Given the description of an element on the screen output the (x, y) to click on. 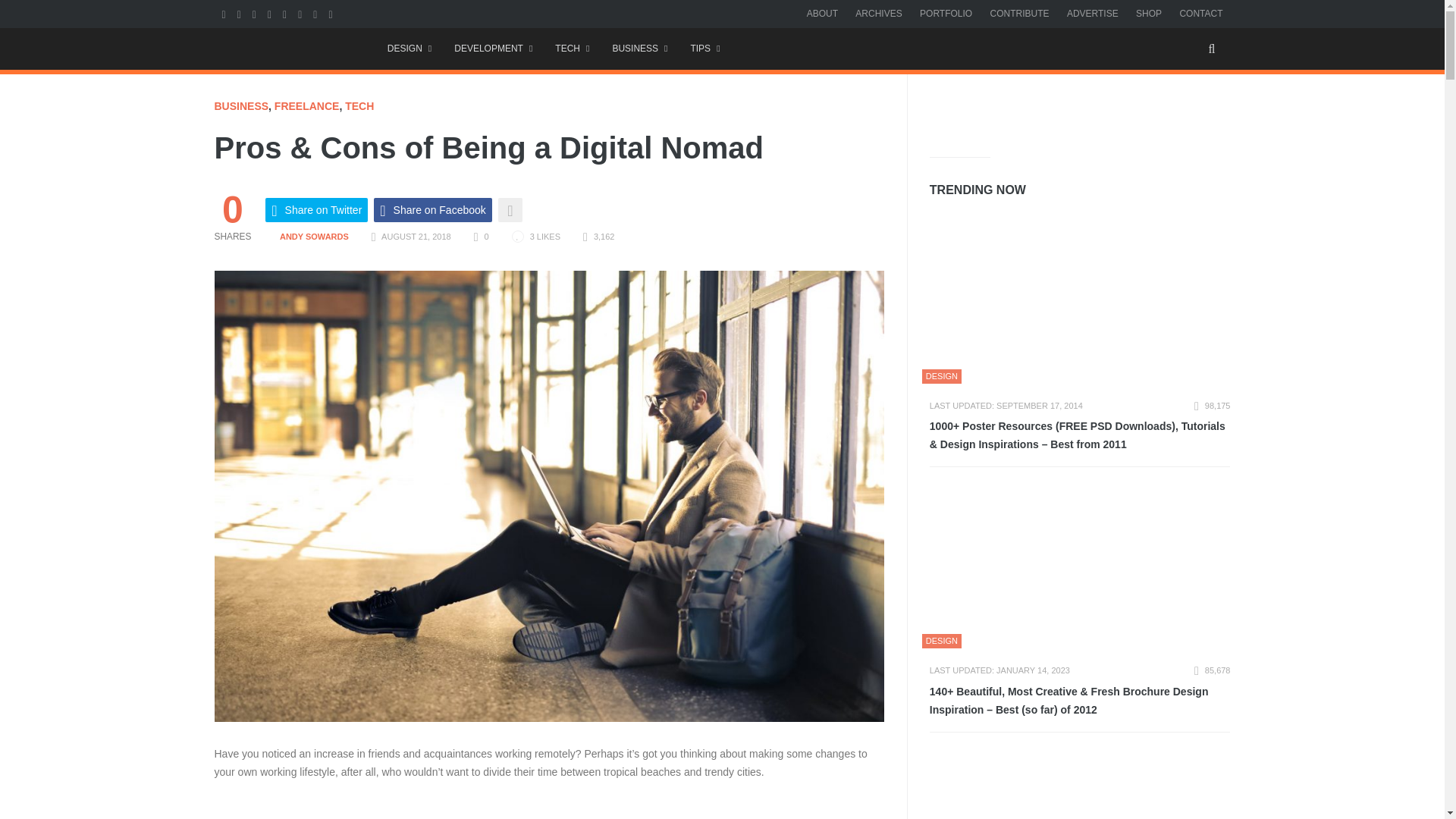
ARCHIVES (878, 13)
Design (408, 48)
DEVELOPMENT (493, 48)
CONTRIBUTE (1019, 13)
CONTACT (1201, 13)
SHOP (1148, 13)
DESIGN (408, 48)
ABOUT (822, 13)
BUSINESS (638, 48)
ADVERTISE (1092, 13)
